Given the description of an element on the screen output the (x, y) to click on. 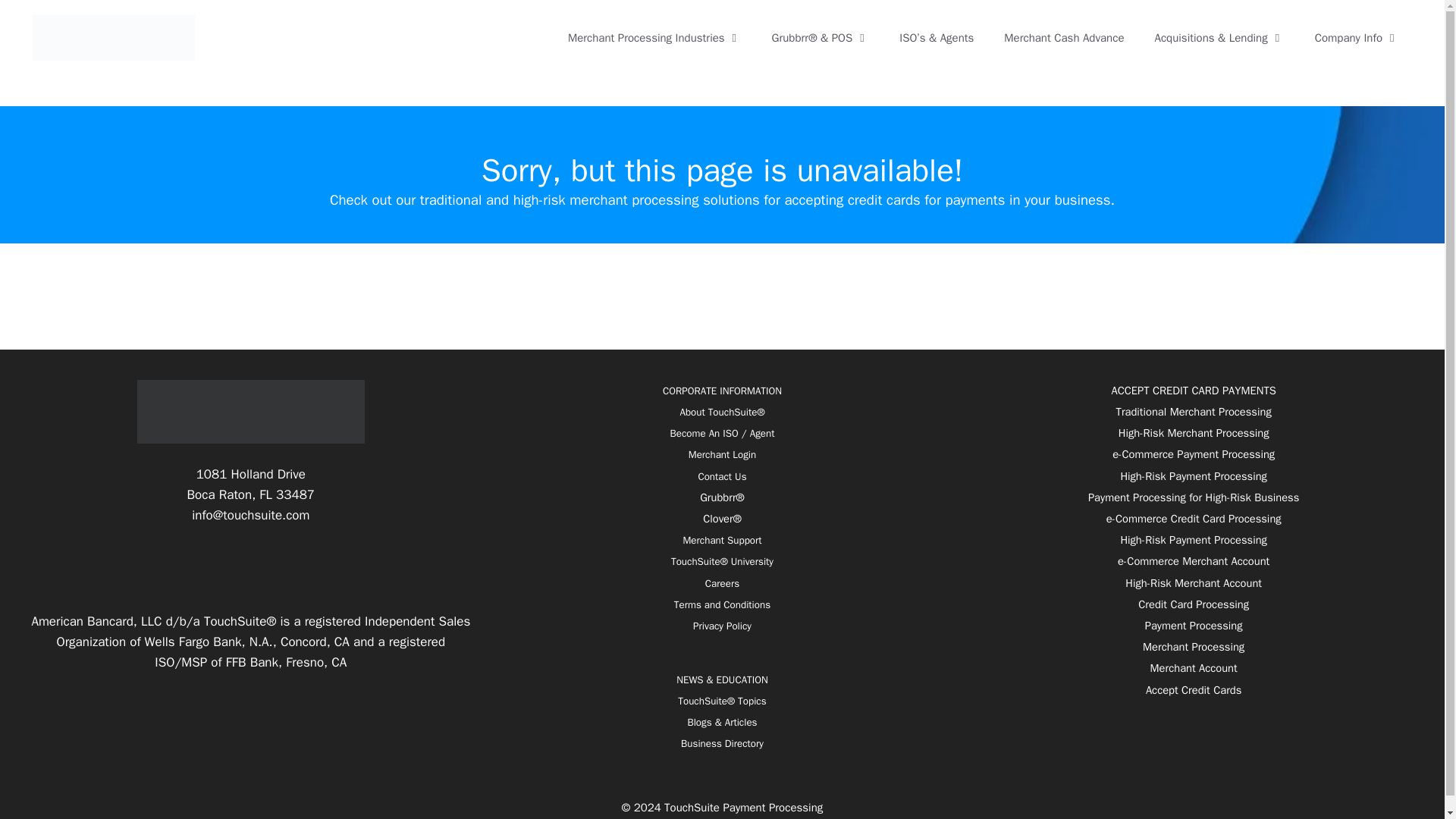
Company Info (1356, 37)
Merchant Processing Industries (655, 37)
Merchant Cash Advance (1063, 37)
Merchant Login (721, 454)
